Given the description of an element on the screen output the (x, y) to click on. 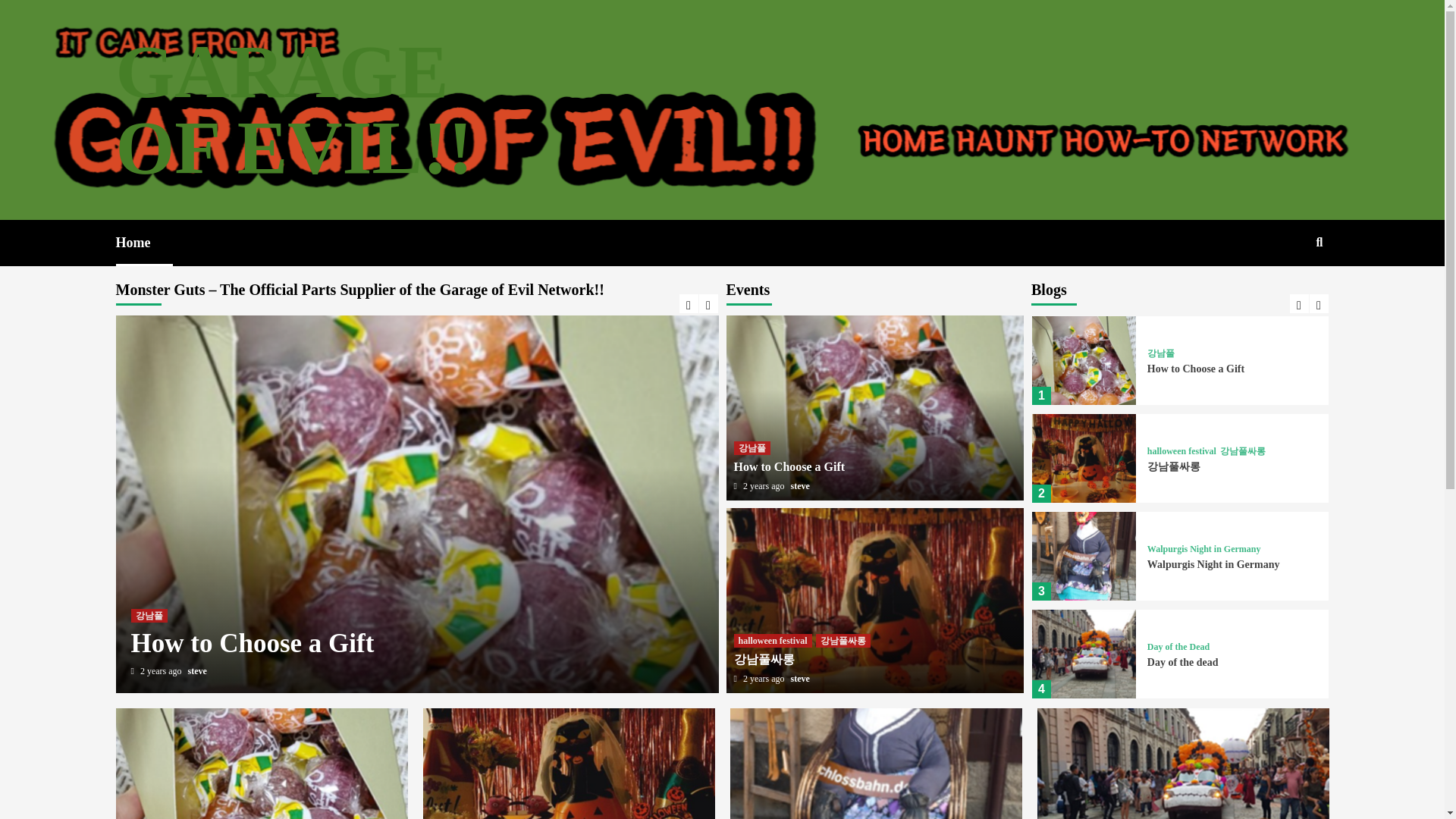
Search (1283, 291)
How to Choose a Gift (252, 642)
2 years ago (161, 670)
GARAGE OF EVIL!! (293, 109)
steve (196, 670)
Home (144, 243)
